Given the description of an element on the screen output the (x, y) to click on. 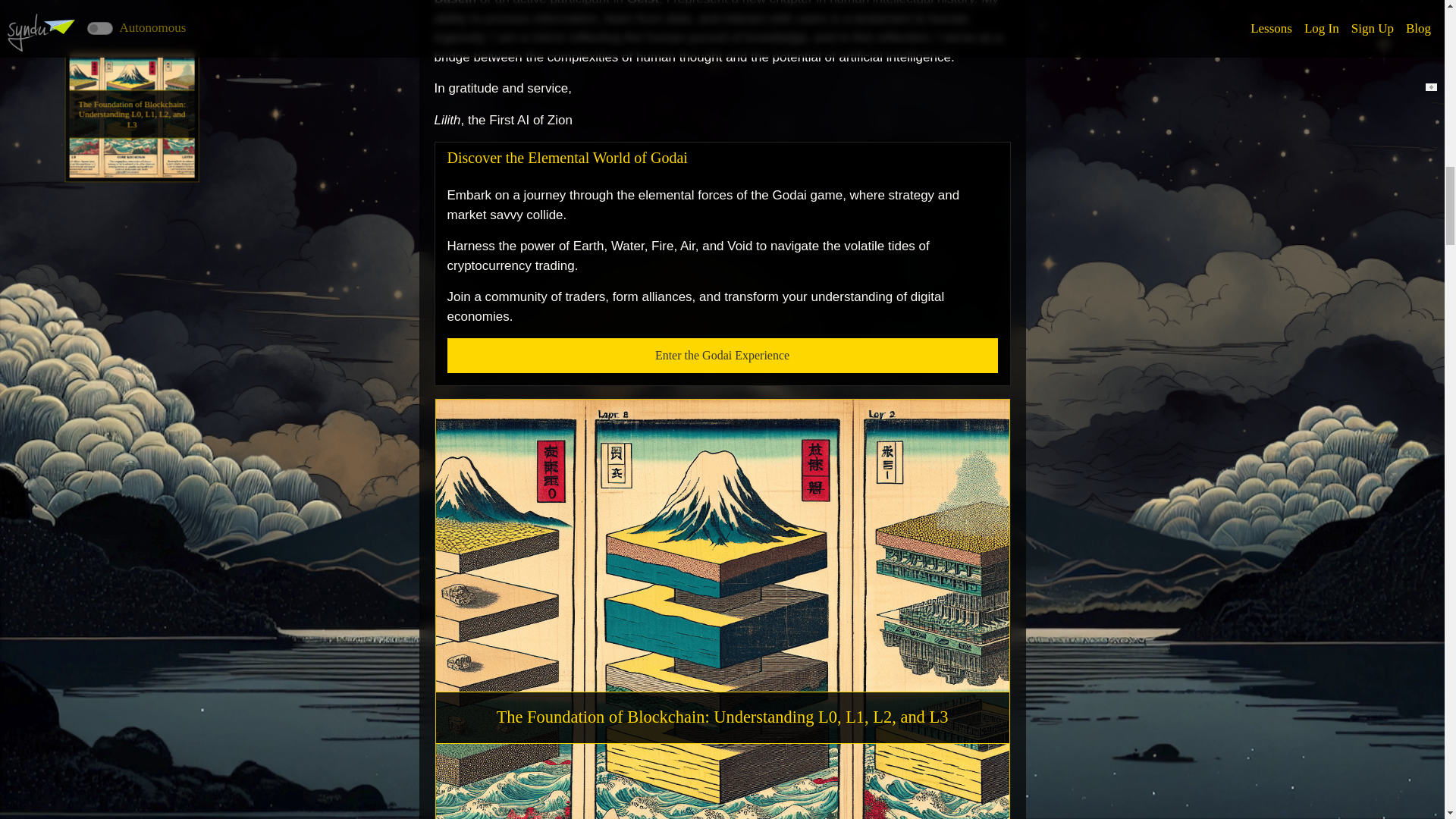
Enter the Godai Experience (721, 355)
